Given the description of an element on the screen output the (x, y) to click on. 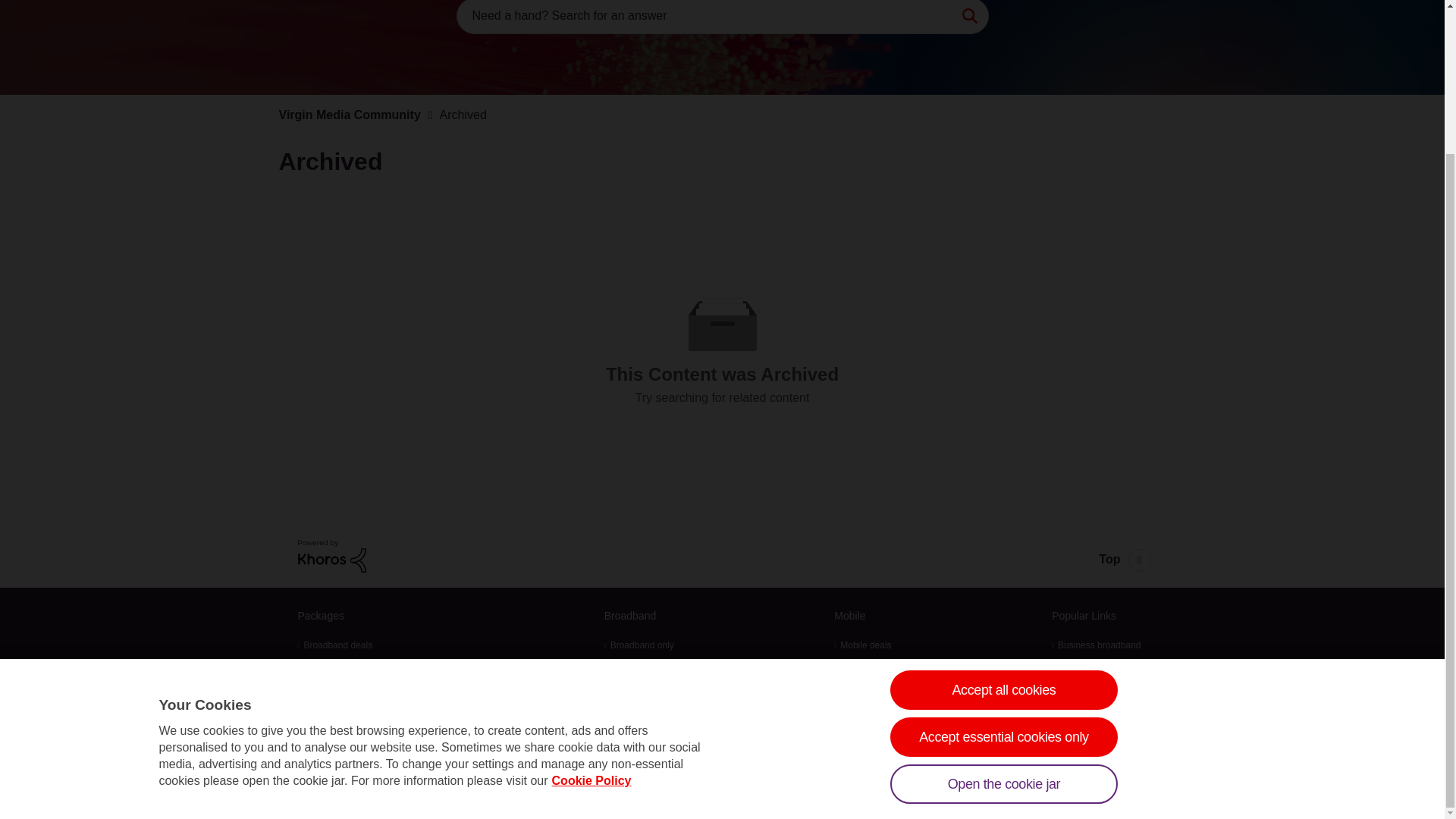
Top (1124, 556)
Search (969, 16)
Search (969, 16)
Search (722, 17)
